Given the description of an element on the screen output the (x, y) to click on. 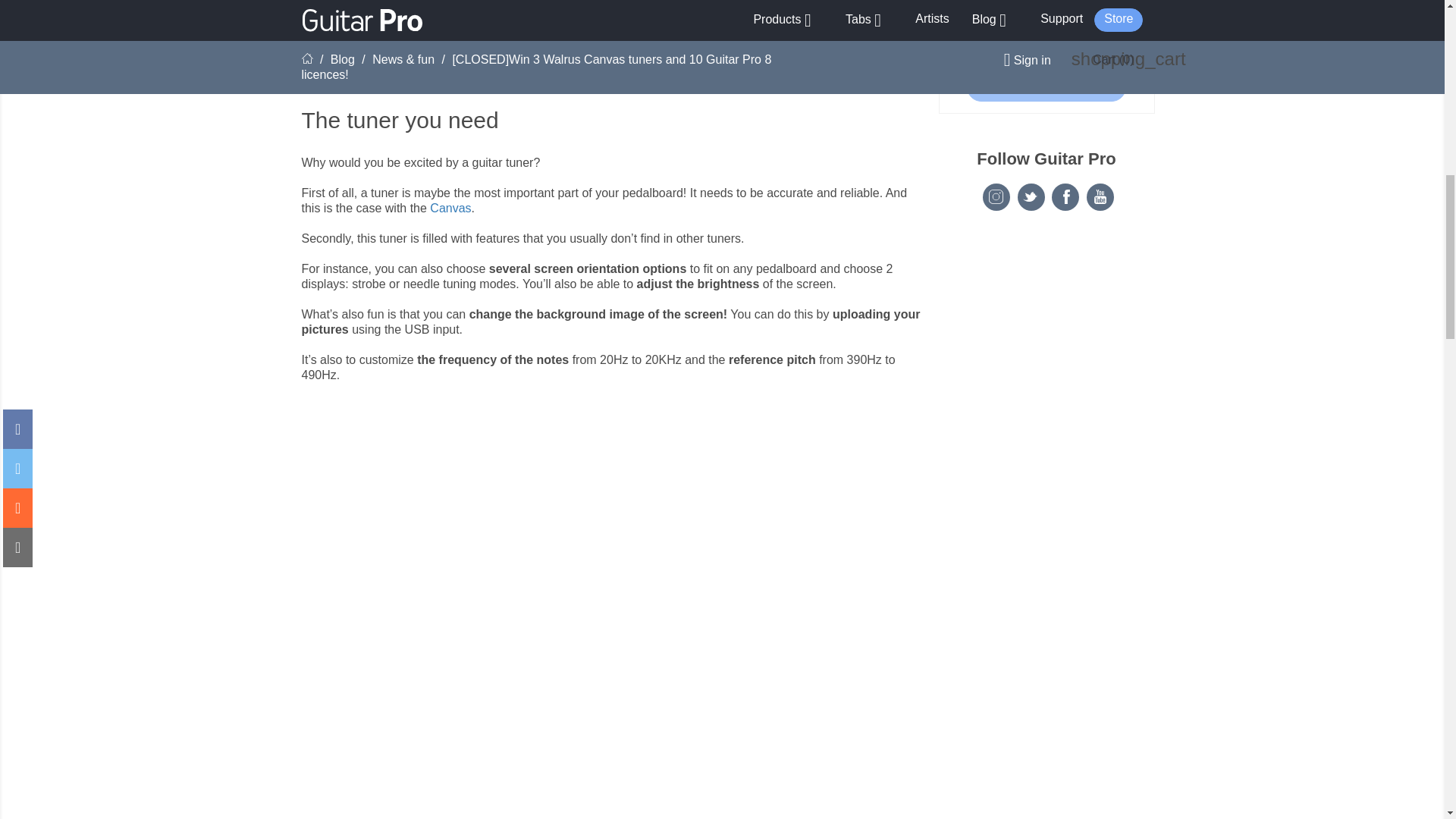
Download the free pack (1045, 86)
